Given the description of an element on the screen output the (x, y) to click on. 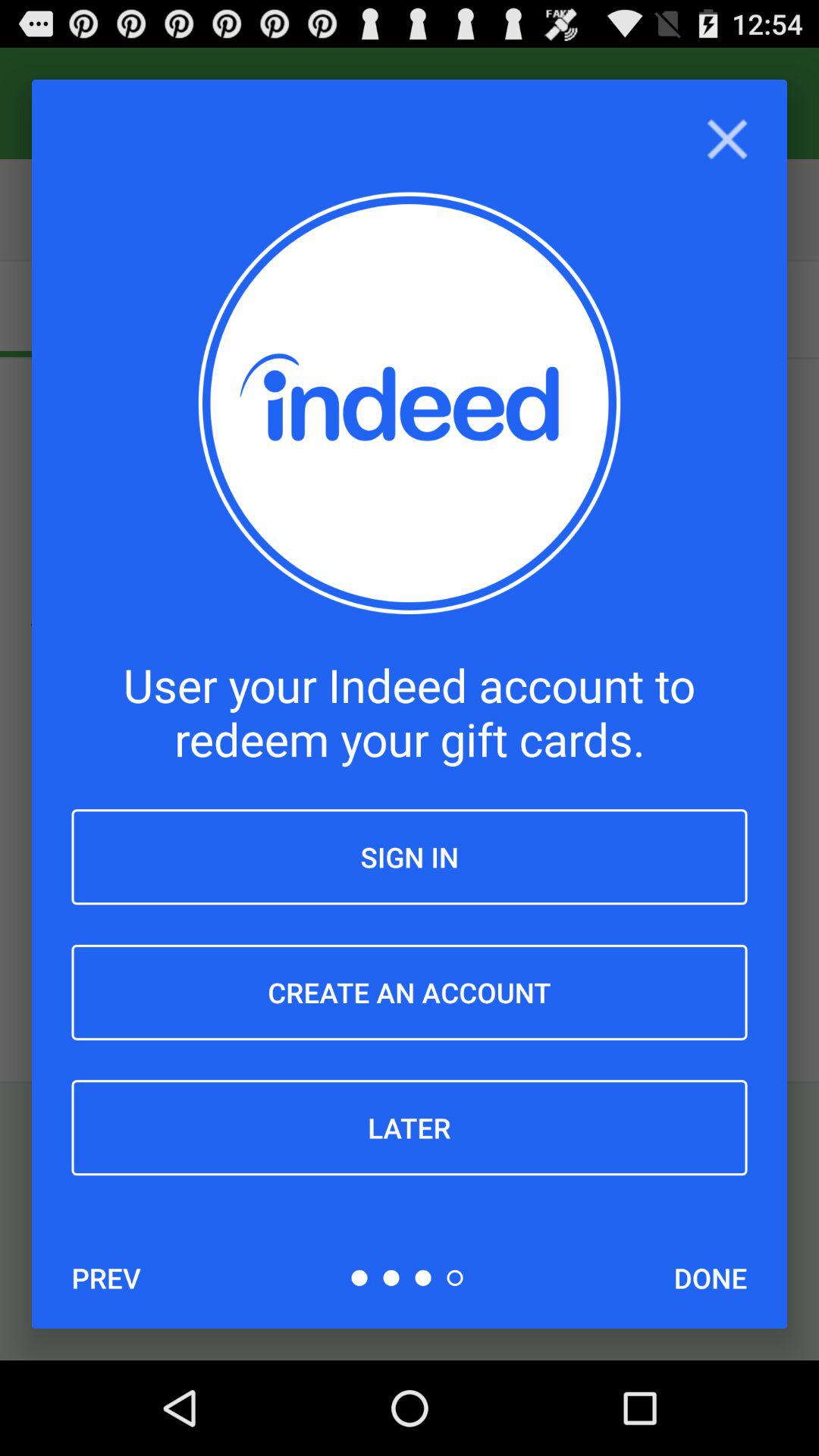
click the icon below the later item (710, 1277)
